Given the description of an element on the screen output the (x, y) to click on. 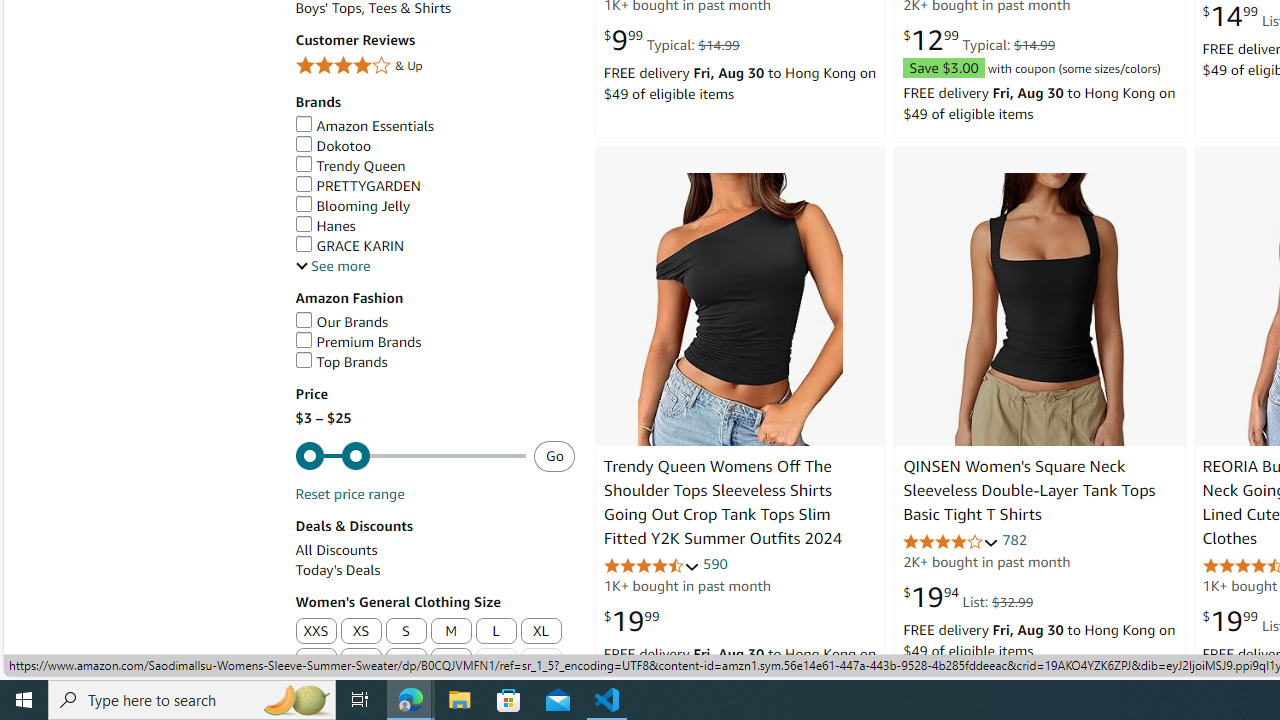
7XL (541, 662)
Top Brands (340, 362)
$9.99 Typical: $14.99 (670, 40)
5XL (451, 662)
$19.99 (631, 621)
Dokotoo (434, 146)
M (451, 631)
S (406, 632)
L (495, 632)
Our Brands (434, 322)
7XL (540, 662)
Top Brands (434, 362)
M (451, 632)
L (495, 631)
All Discounts (434, 550)
